Given the description of an element on the screen output the (x, y) to click on. 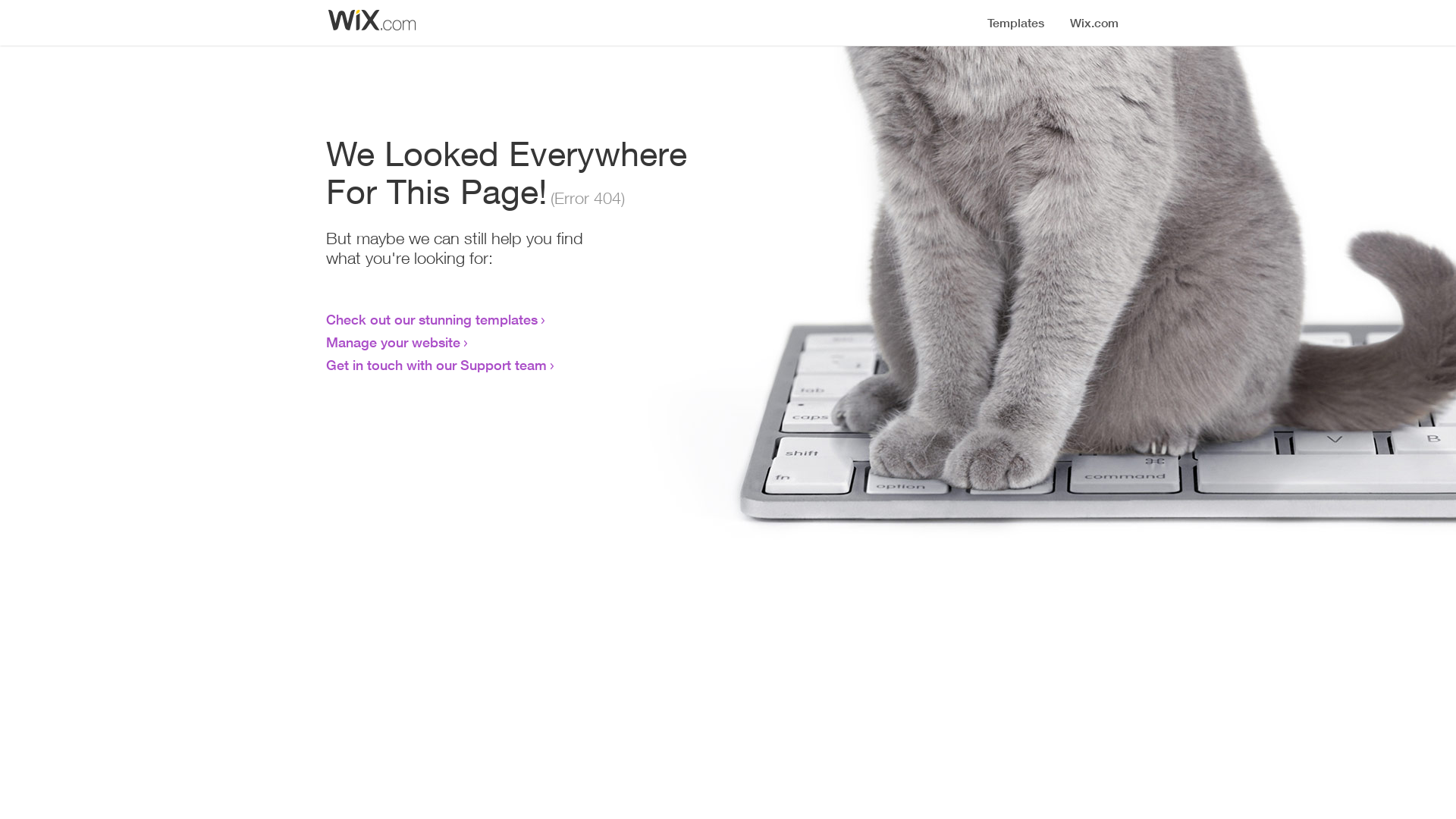
Get in touch with our Support team Element type: text (436, 364)
Manage your website Element type: text (393, 341)
Check out our stunning templates Element type: text (431, 318)
